Given the description of an element on the screen output the (x, y) to click on. 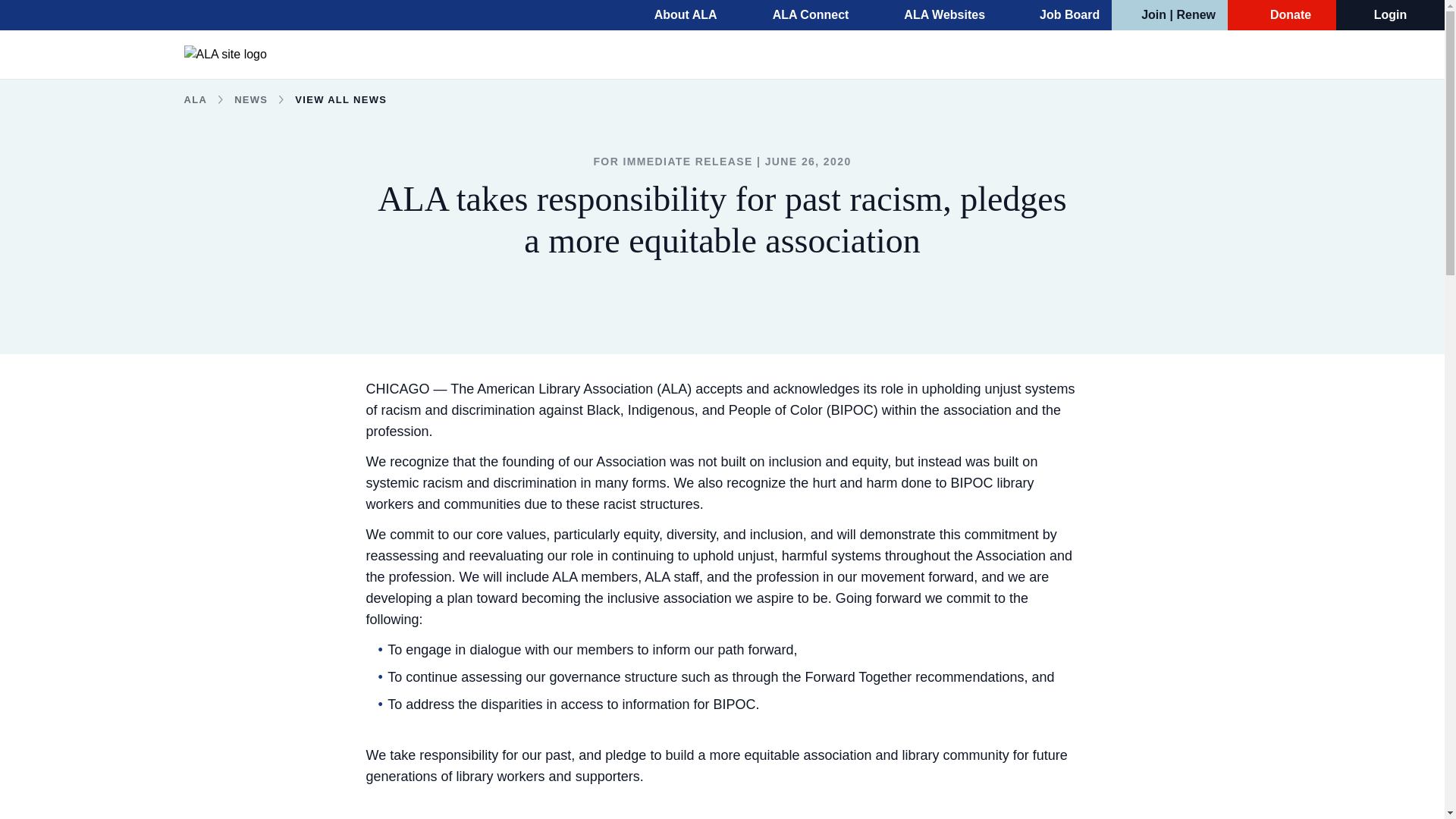
Donate (1281, 15)
ALA Websites (934, 15)
Donate (1281, 15)
ALA Websites (934, 15)
About ALA (675, 15)
About ALA (675, 15)
Job Board (1060, 15)
Login (1390, 15)
ALA Connect (801, 15)
